Given the description of an element on the screen output the (x, y) to click on. 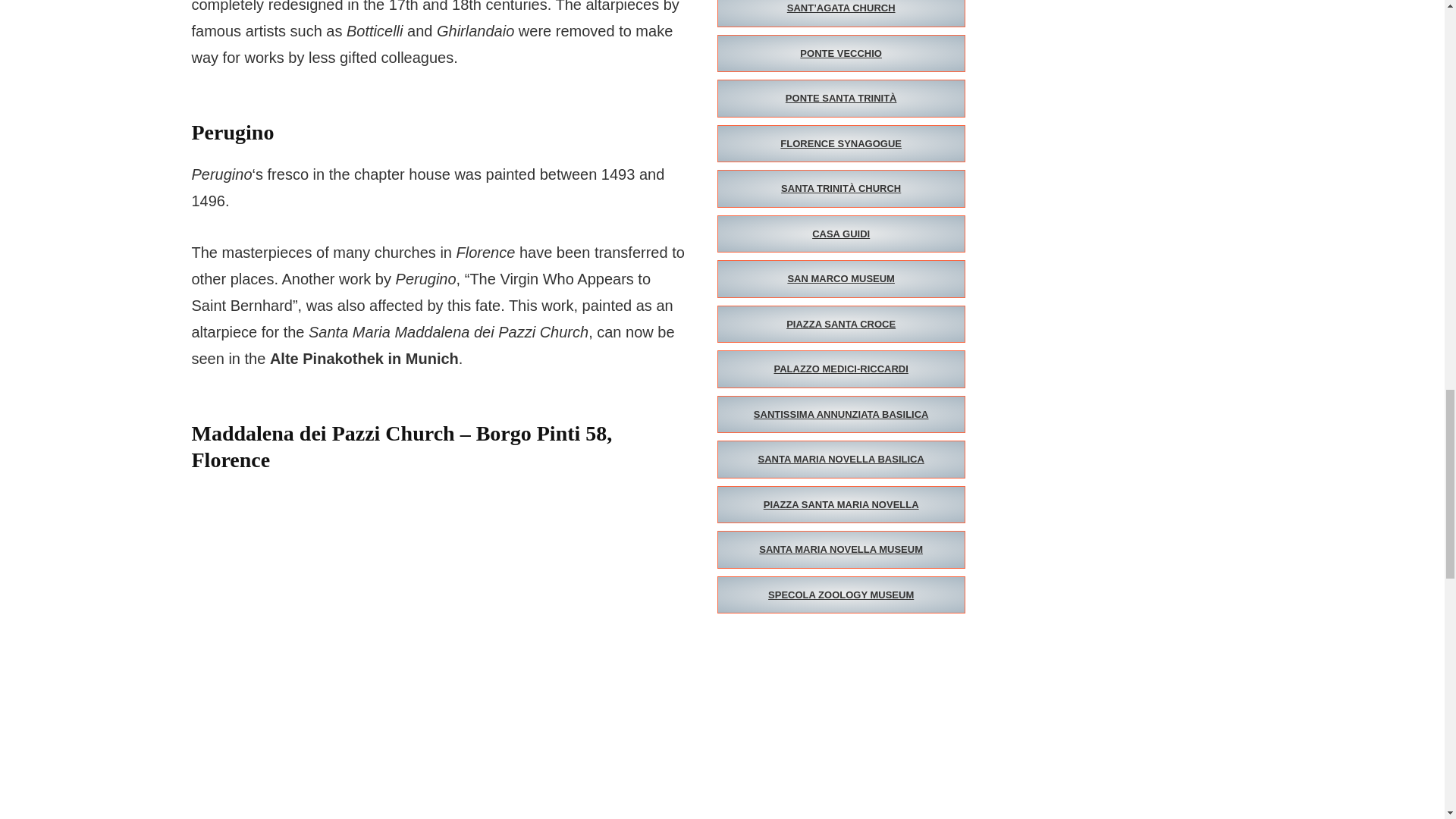
SAN MARCO MUSEUM (841, 279)
PIAZZA SANTA CROCE (841, 324)
CASA GUIDI (841, 234)
PALAZZO MEDICI-RICCARDI (841, 369)
FLORENCE SYNAGOGUE (841, 143)
PONTE VECCHIO (841, 53)
SANTA MARIA NOVELLA BASILICA (841, 459)
SANTA MARIA NOVELLA MUSEUM (841, 549)
PIAZZA SANTA MARIA NOVELLA (841, 505)
SANTISSIMA ANNUNZIATA BASILICA (841, 414)
